Given the description of an element on the screen output the (x, y) to click on. 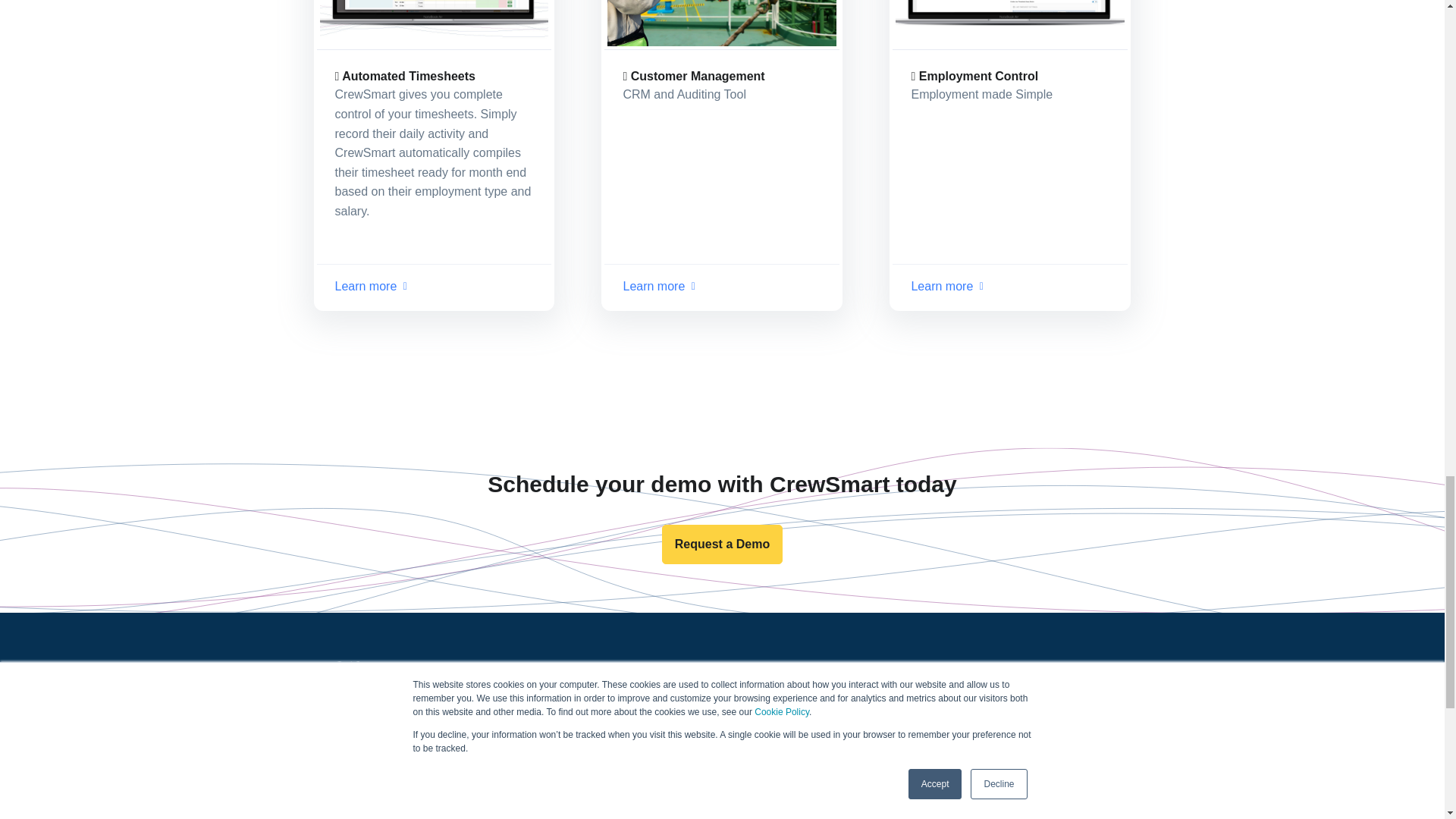
Available on Android for tablets (1073, 812)
Available on iOS for tablets (1023, 812)
